Given the description of an element on the screen output the (x, y) to click on. 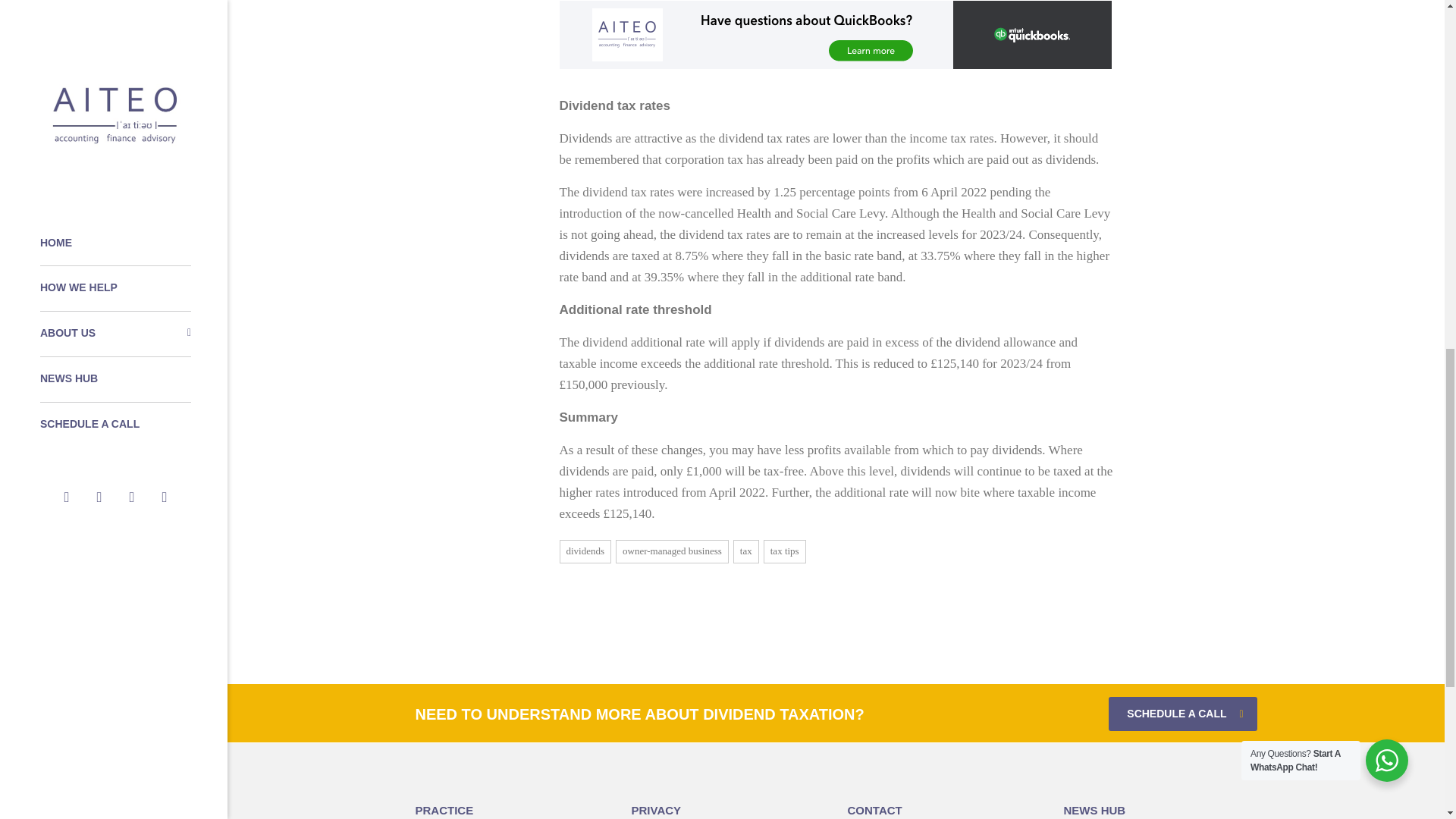
owner-managed business (672, 551)
tax tips (784, 551)
tax (745, 551)
dividends (585, 551)
